Given the description of an element on the screen output the (x, y) to click on. 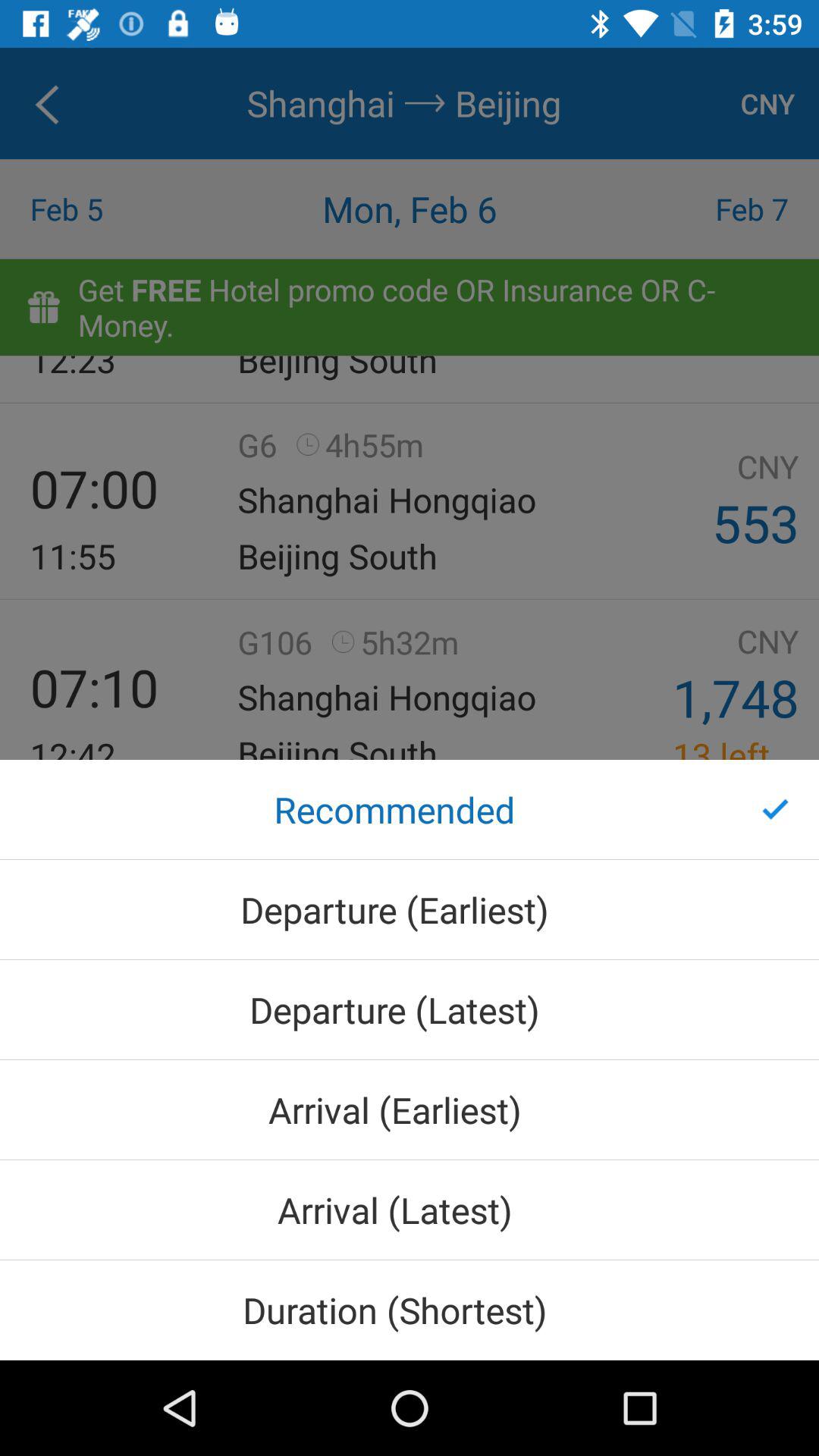
tap the item below the arrival (latest) (409, 1309)
